Given the description of an element on the screen output the (x, y) to click on. 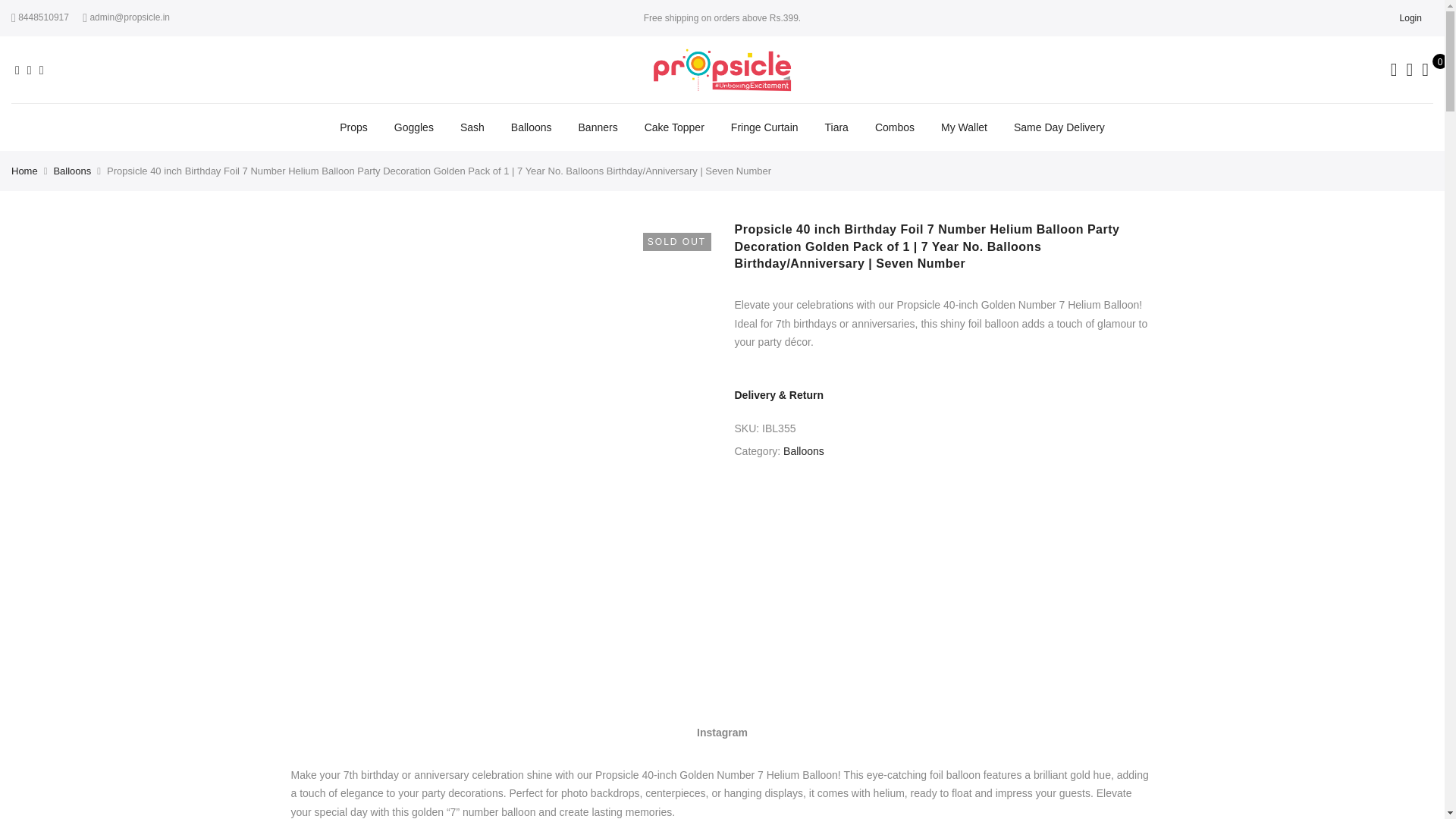
Fringe Curtain (763, 127)
Balloons (531, 127)
Sash (472, 127)
Tiara (836, 127)
My Wallet (963, 127)
Banners (597, 127)
Combos (894, 127)
Goggles (413, 127)
Same Day Delivery (1059, 127)
Login (1410, 17)
